Given the description of an element on the screen output the (x, y) to click on. 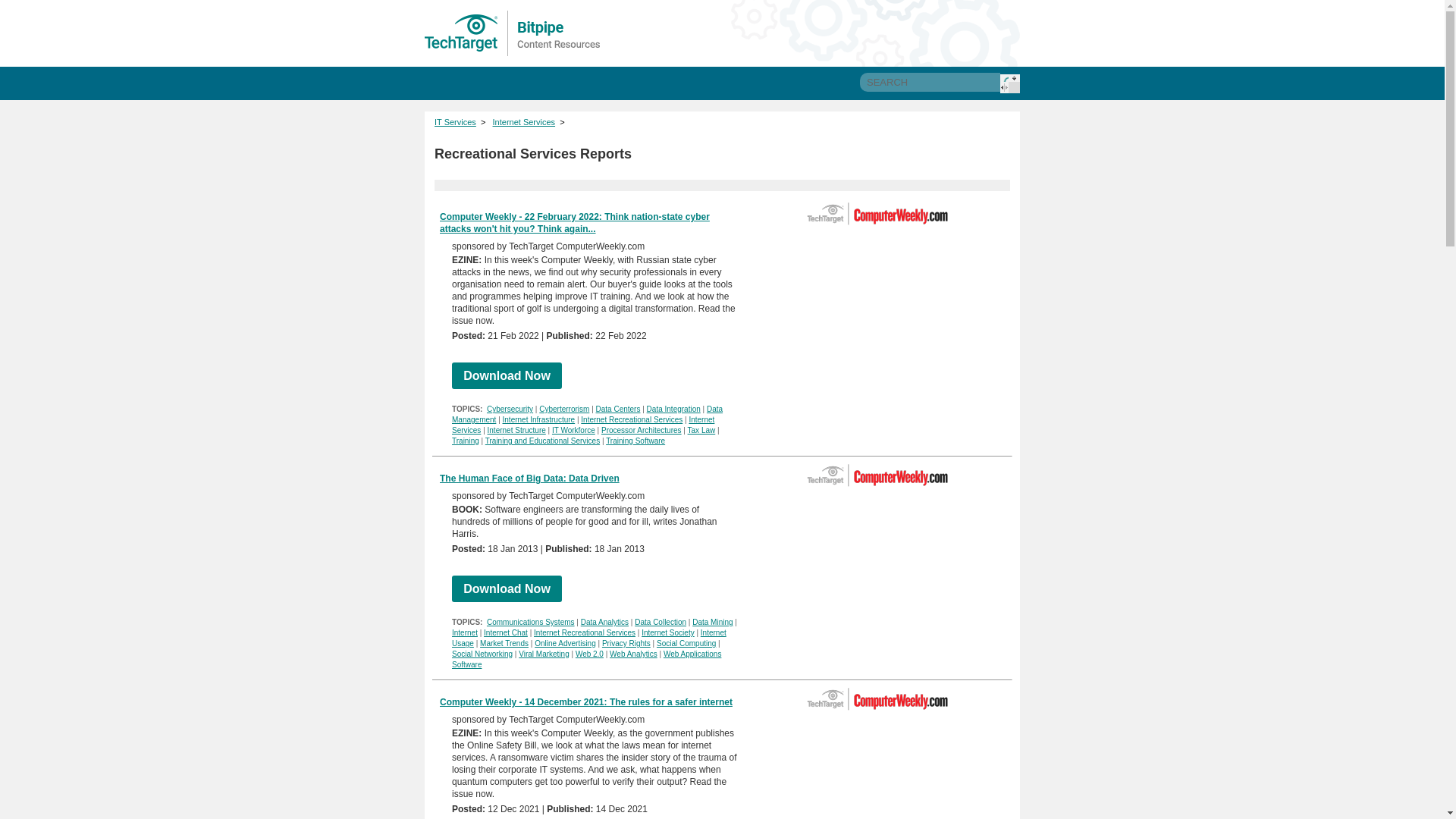
Go! (1010, 83)
Bitpipe.com (513, 33)
Internet Usage (588, 637)
Internet Services (582, 424)
Internet Recreational Services (631, 419)
Data Mining (712, 622)
Tax Law (701, 429)
Internet Chat (505, 632)
Data Collection (659, 622)
Market Trends (504, 643)
Internet (464, 632)
Internet Services (524, 121)
Data Centers (617, 408)
Internet Recreational Services (584, 632)
